Given the description of an element on the screen output the (x, y) to click on. 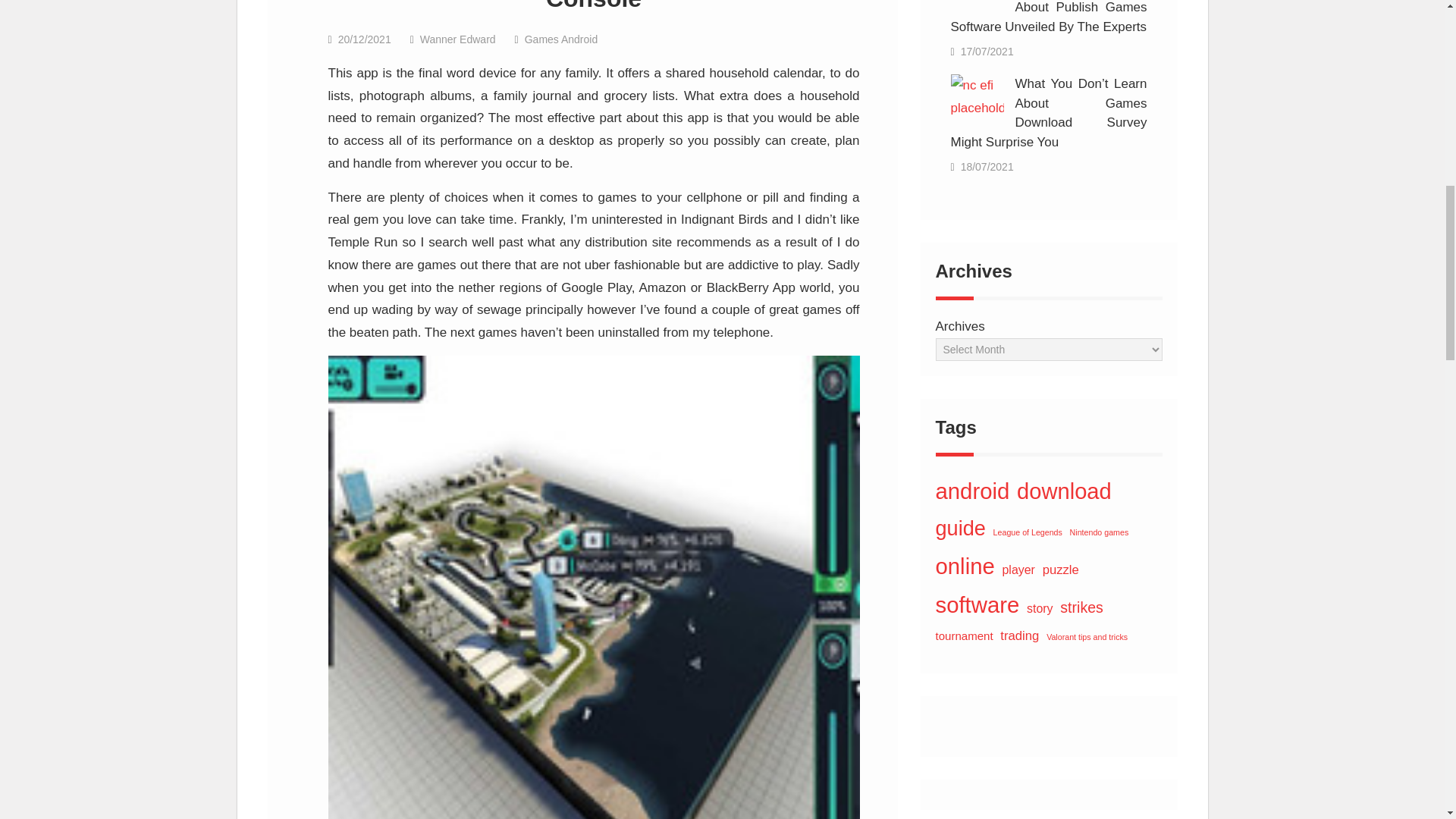
Games Android (561, 39)
Wanner Edward (458, 39)
